Given the description of an element on the screen output the (x, y) to click on. 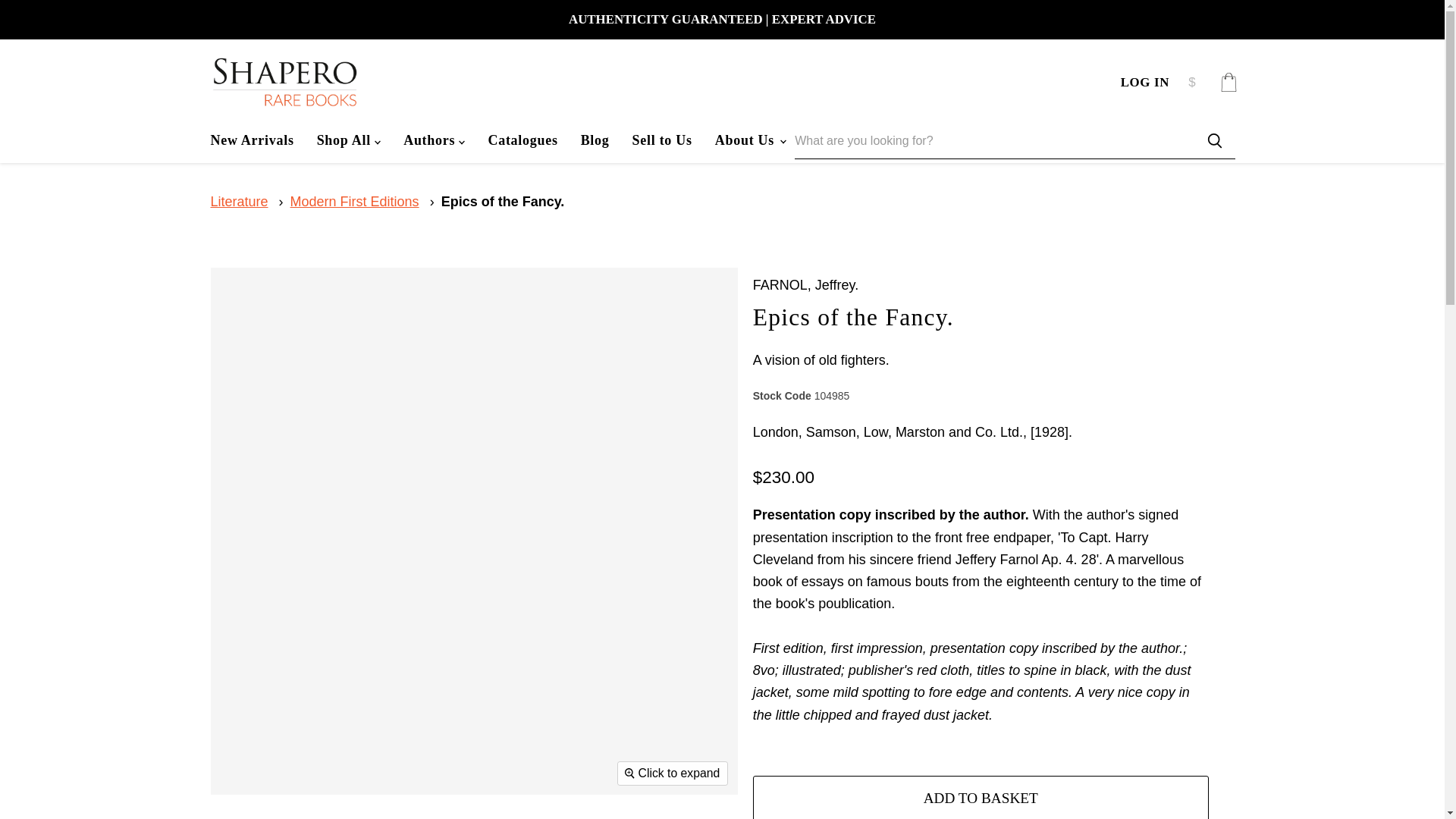
Literature (239, 201)
FARNOL, Jeffrey. (805, 284)
New Arrivals (251, 140)
LOG IN (1144, 82)
View cart (1228, 82)
Modern First Editions (354, 201)
